Given the description of an element on the screen output the (x, y) to click on. 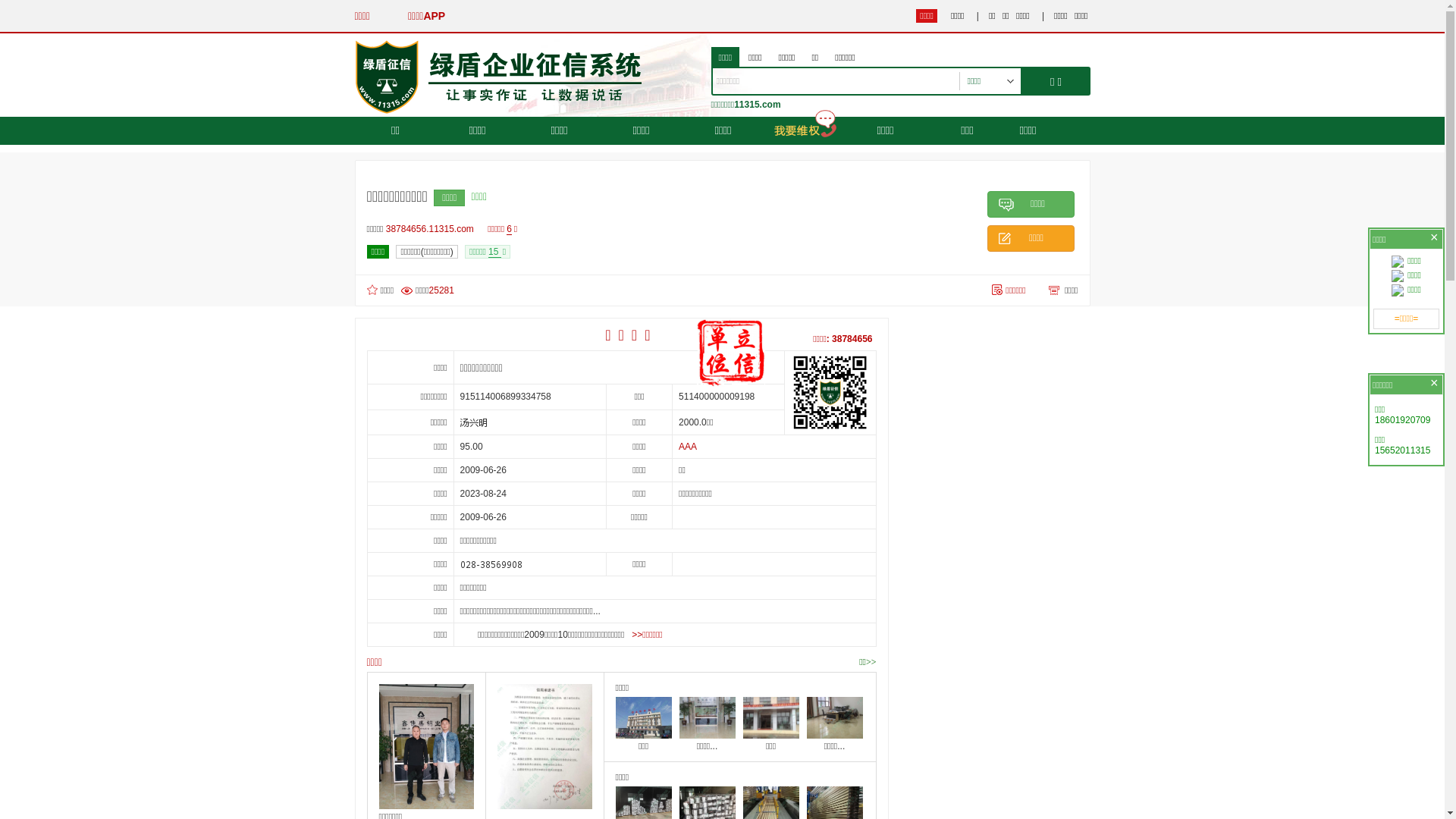
38784656.11315.com Element type: text (433, 228)
AAA Element type: text (687, 446)
